Given the description of an element on the screen output the (x, y) to click on. 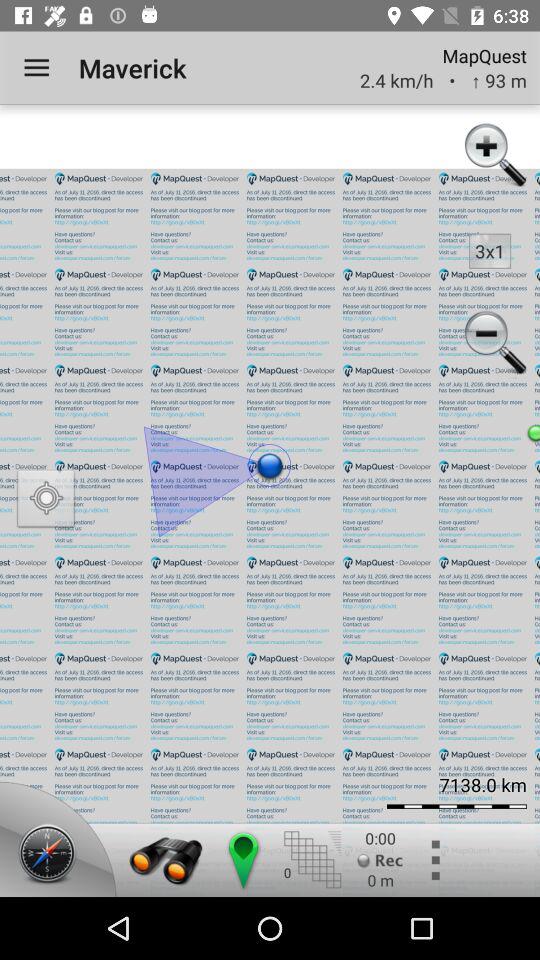
swipe until the 2x1 icon (490, 250)
